Given the description of an element on the screen output the (x, y) to click on. 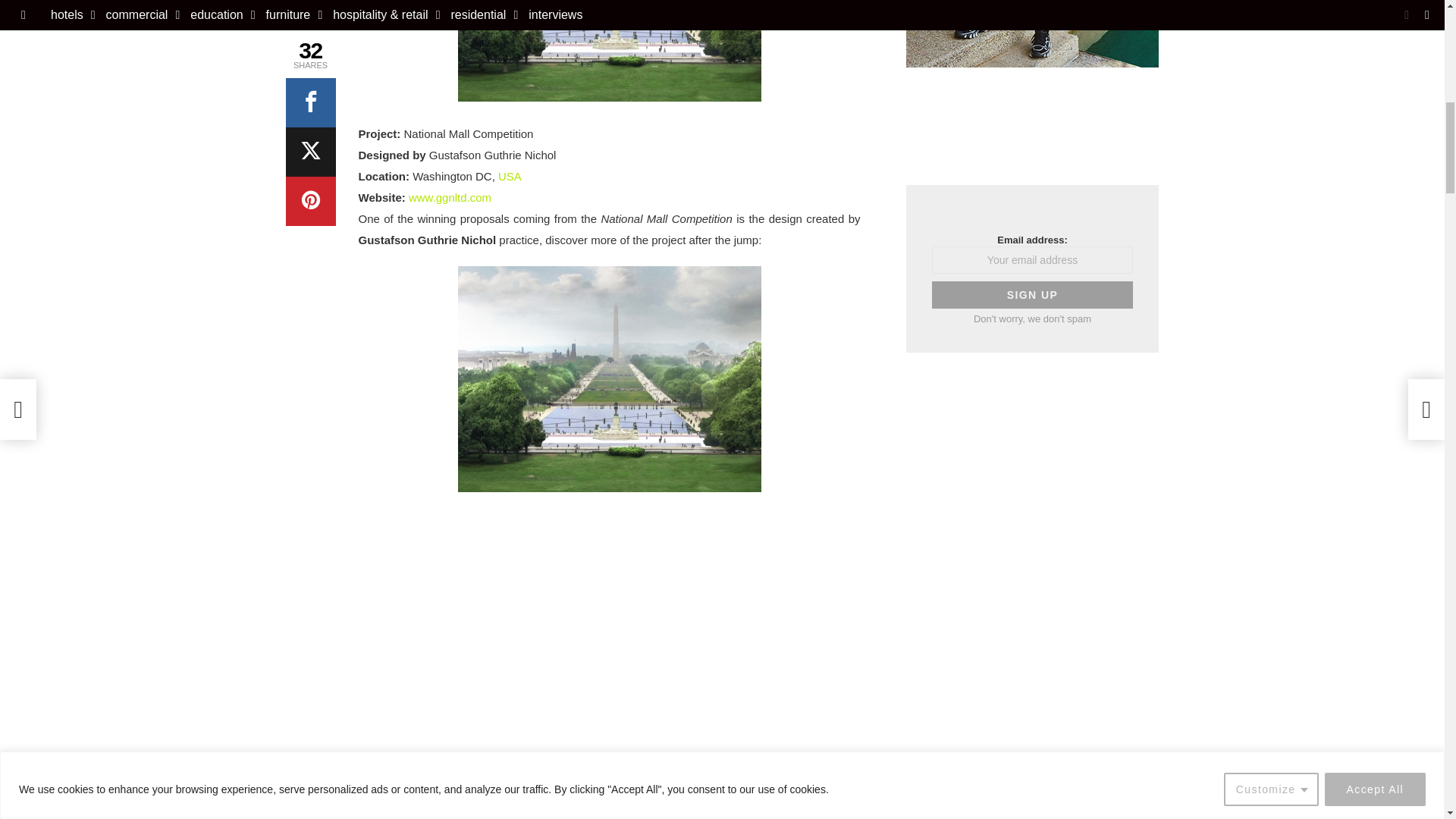
Sign up (1031, 294)
